Given the description of an element on the screen output the (x, y) to click on. 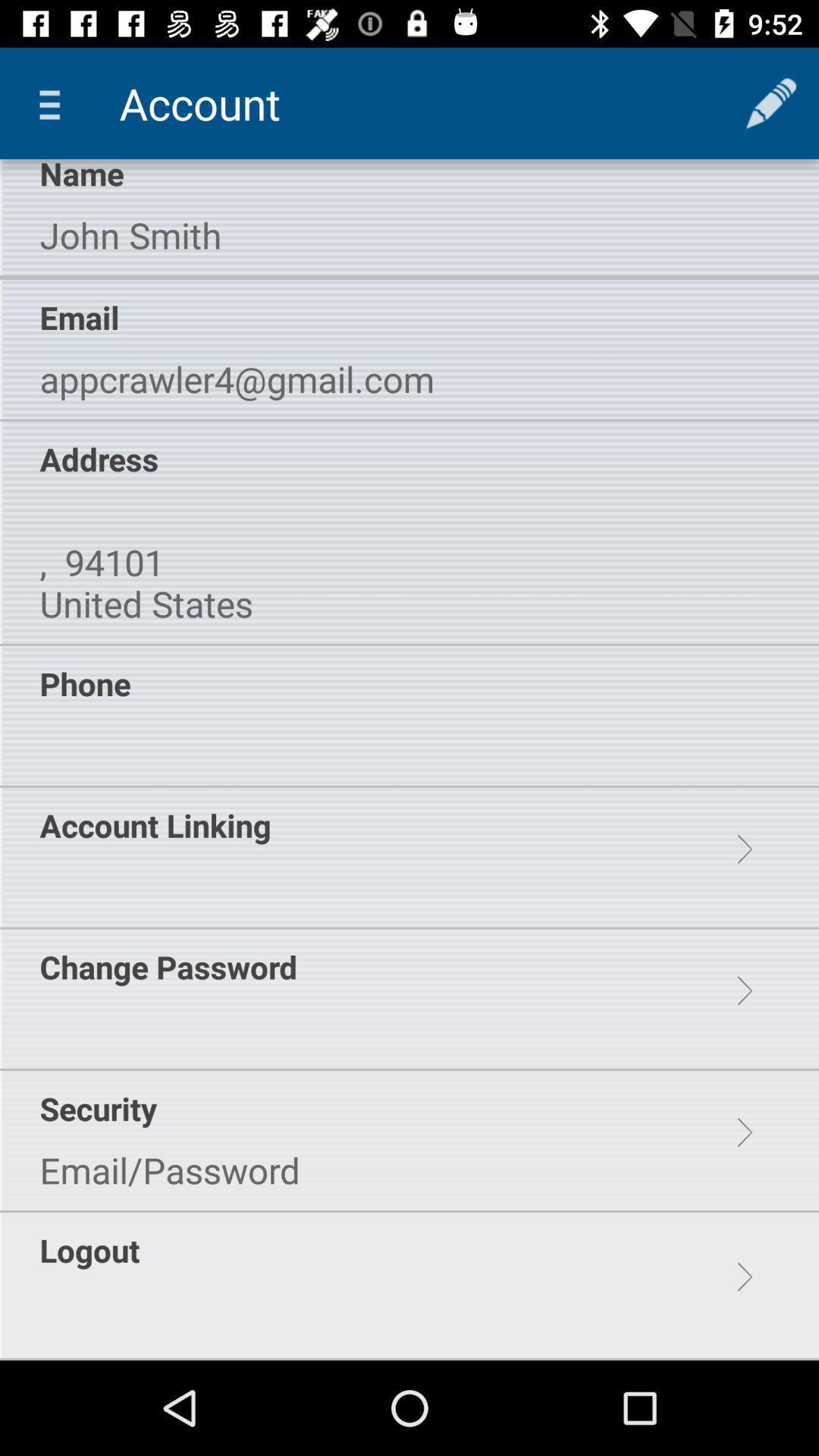
turn on the icon at the top right corner (771, 103)
